Given the description of an element on the screen output the (x, y) to click on. 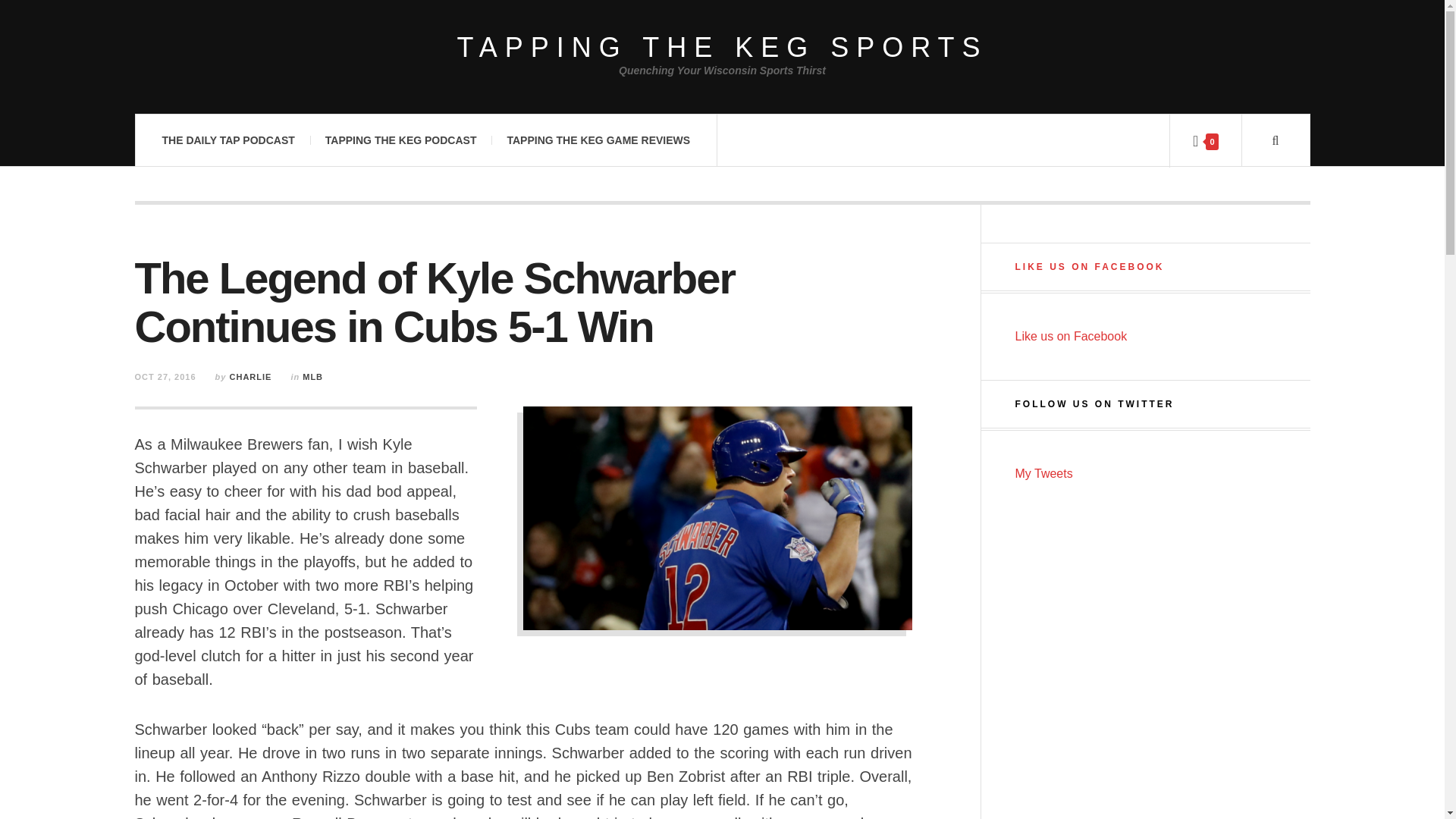
THE DAILY TAP PODCAST (228, 140)
View all posts in MLB (312, 376)
0 (1204, 140)
Like us on Facebook (1070, 336)
TAPPING THE KEG PODCAST (401, 140)
MLB (312, 376)
My Tweets (1042, 472)
Tapping The Keg Sports (722, 47)
LIKE US ON FACEBOOK (1088, 266)
TAPPING THE KEG SPORTS (722, 47)
